Given the description of an element on the screen output the (x, y) to click on. 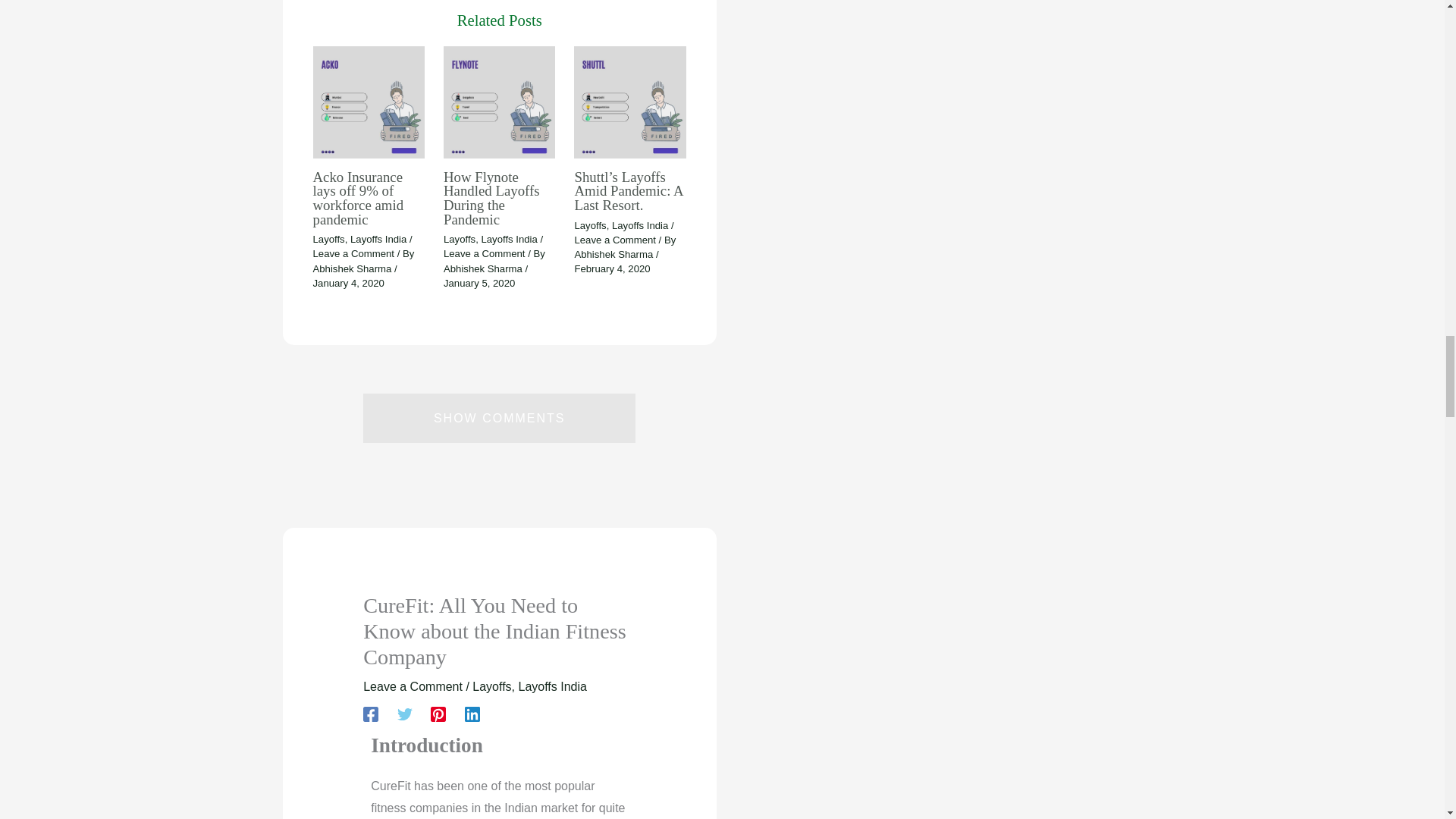
Abhishek Sharma (353, 268)
View all posts by Abhishek Sharma (614, 254)
Layoffs India (378, 238)
Leave a Comment (353, 253)
Layoffs (328, 238)
How Flynote Handled Layoffs During the Pandemic (492, 197)
View all posts by Abhishek Sharma (484, 268)
View all posts by Abhishek Sharma (353, 268)
